Given the description of an element on the screen output the (x, y) to click on. 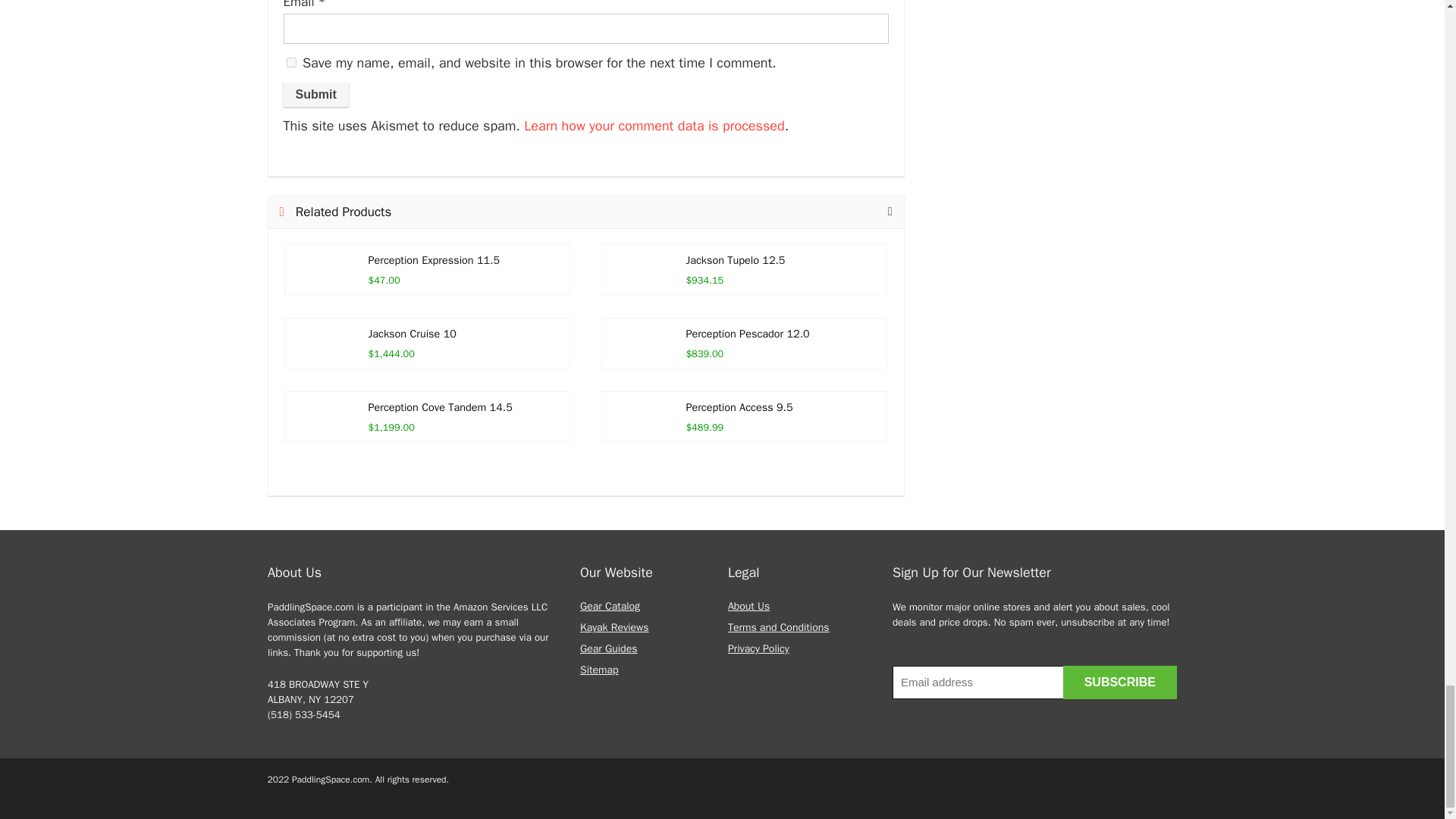
Perception Expression 11.5 (434, 259)
Submit (316, 94)
yes (291, 62)
Subscribe (1119, 682)
Jackson Tupelo 12.5 (734, 259)
Learn how your comment data is processed (654, 125)
Submit (316, 94)
